Given the description of an element on the screen output the (x, y) to click on. 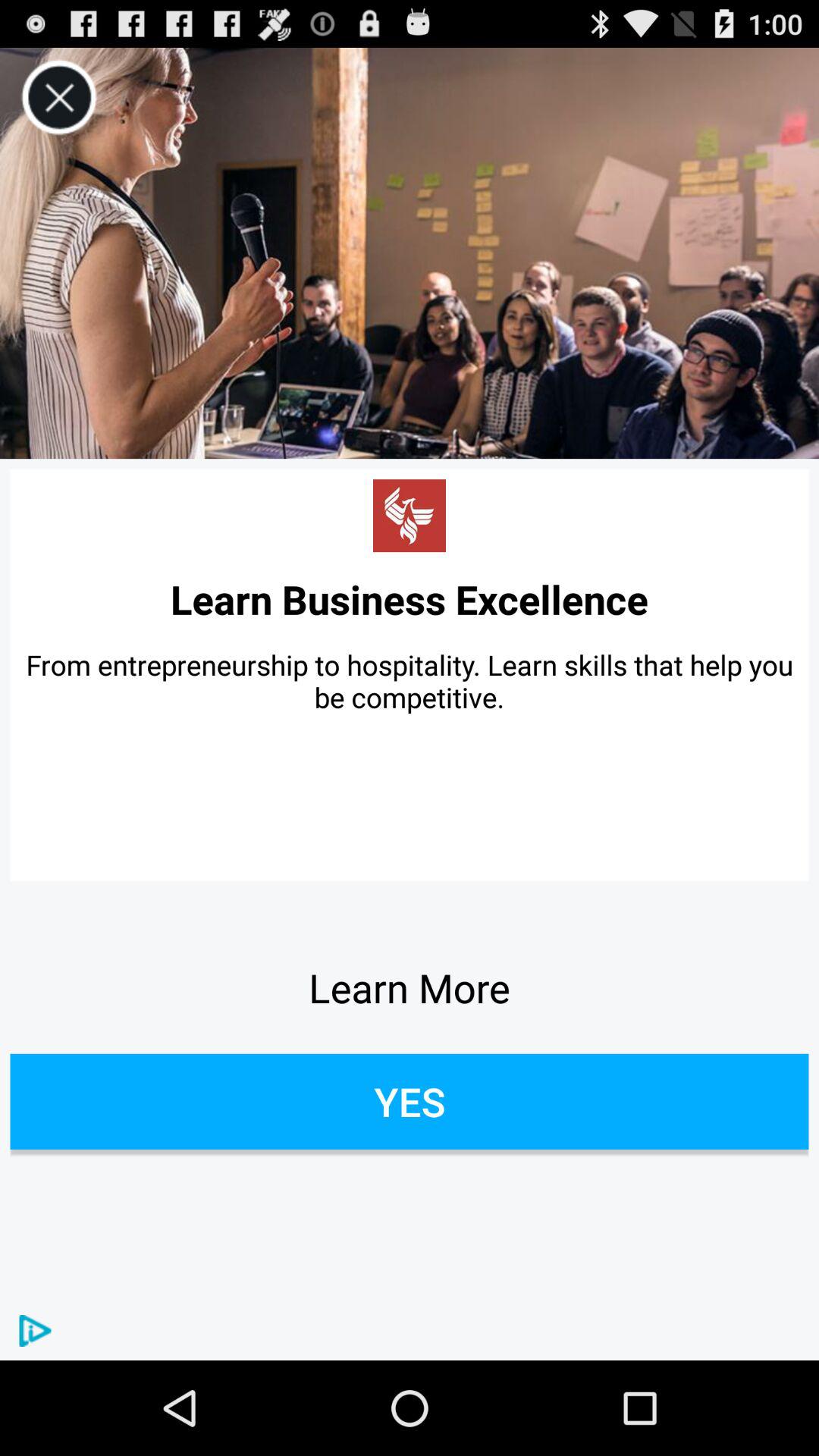
turn on the icon below from entrepreneurship to (409, 987)
